Given the description of an element on the screen output the (x, y) to click on. 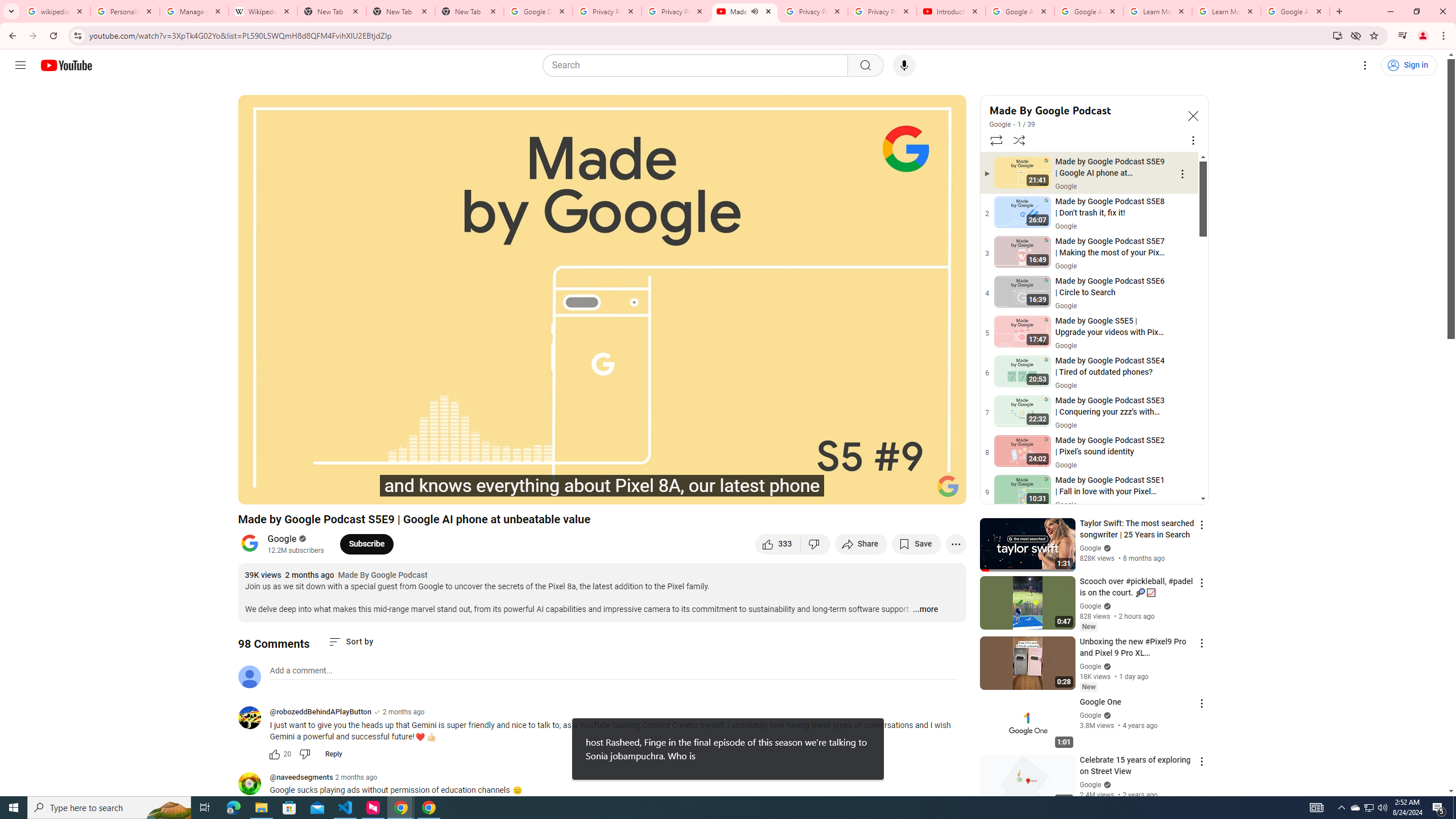
Collapse (1192, 115)
Seek slider (601, 476)
Reply (333, 754)
Google Account (1295, 11)
More actions (955, 543)
Made By Google Podcast (1082, 109)
Manage your Location History - Google Search Help (194, 11)
Loop playlist (995, 140)
